Given the description of an element on the screen output the (x, y) to click on. 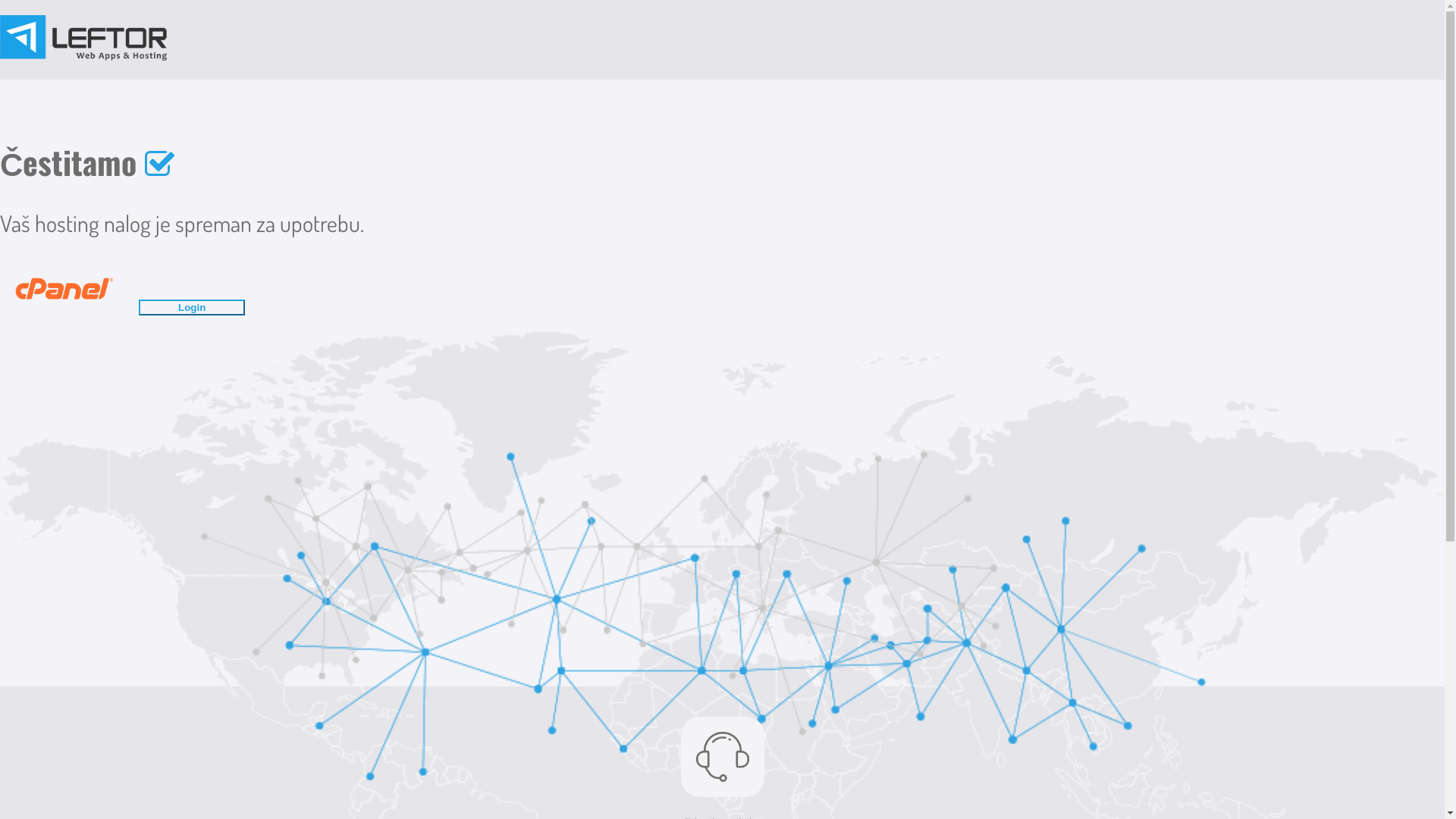
Login Element type: text (191, 307)
Login Element type: text (199, 302)
